Given the description of an element on the screen output the (x, y) to click on. 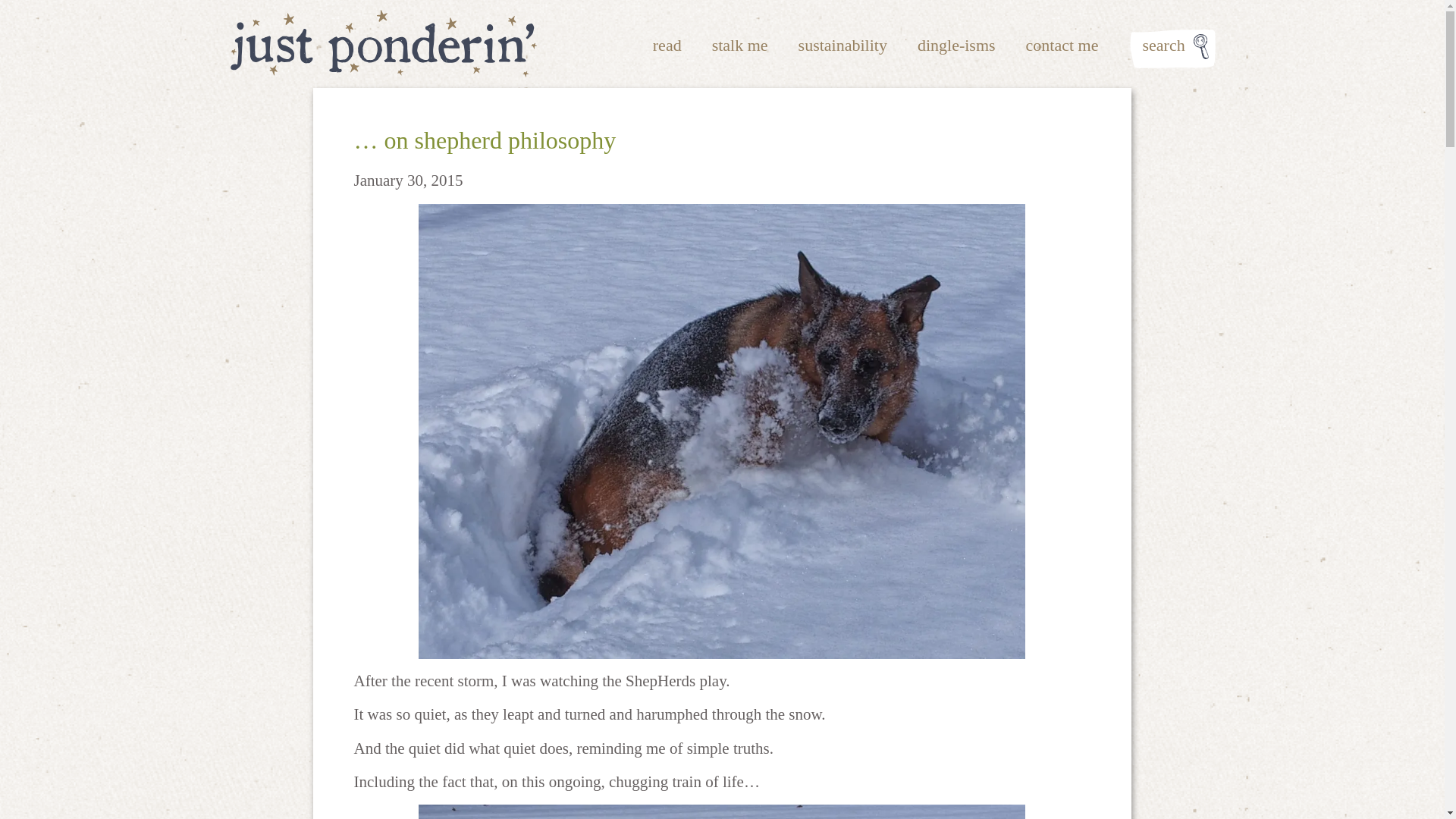
stalk me (739, 45)
read (666, 45)
dingle-isms (956, 45)
sustainability (841, 45)
contact me (1062, 45)
